Given the description of an element on the screen output the (x, y) to click on. 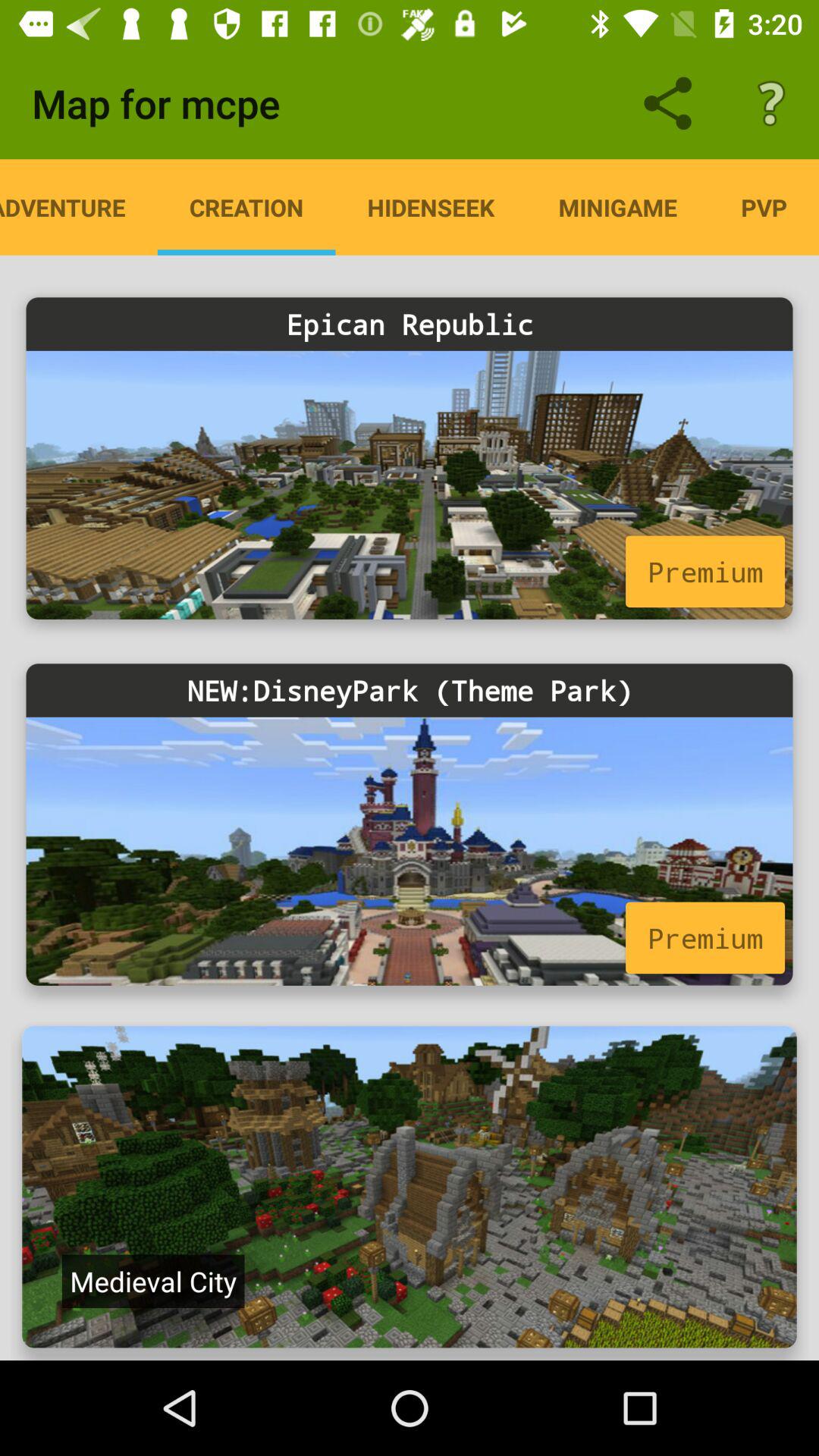
share the article (409, 1186)
